Given the description of an element on the screen output the (x, y) to click on. 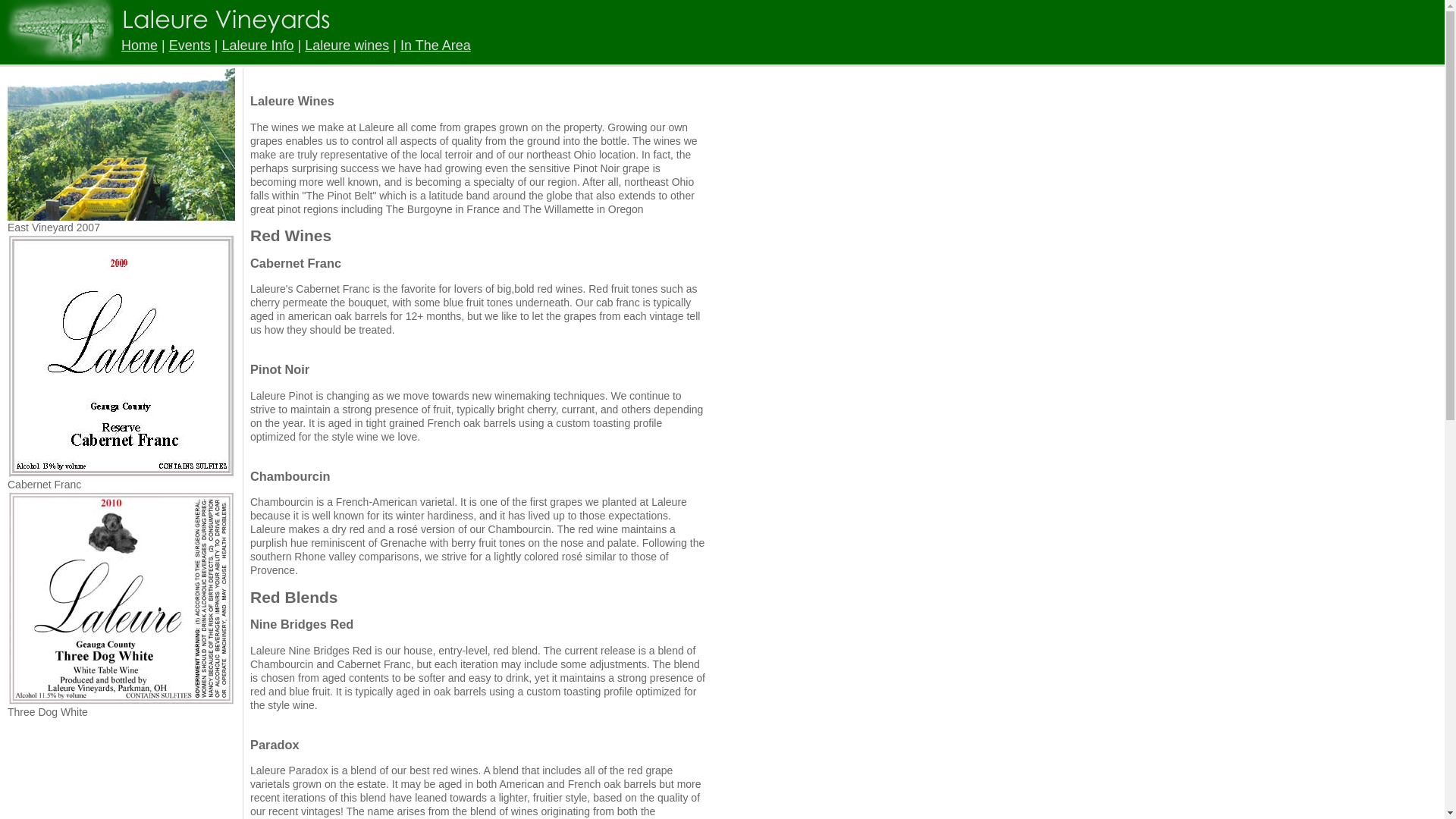
Home (138, 45)
Laleure wines (346, 45)
Laleure Info (257, 45)
Events (189, 45)
In The Area (435, 45)
